Given the description of an element on the screen output the (x, y) to click on. 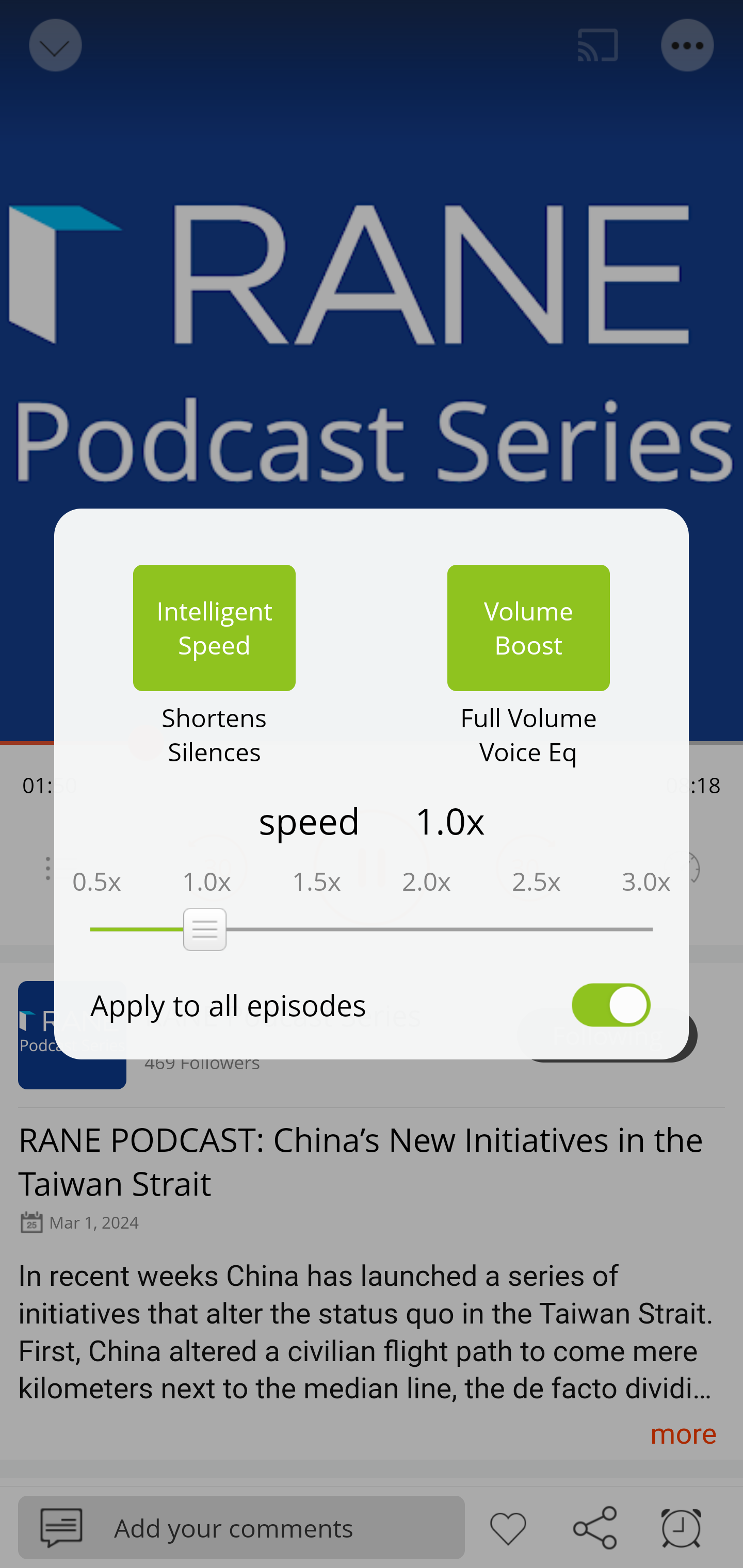
Intelligent
Speed (213, 627)
Volume
Boost (528, 627)
